Given the description of an element on the screen output the (x, y) to click on. 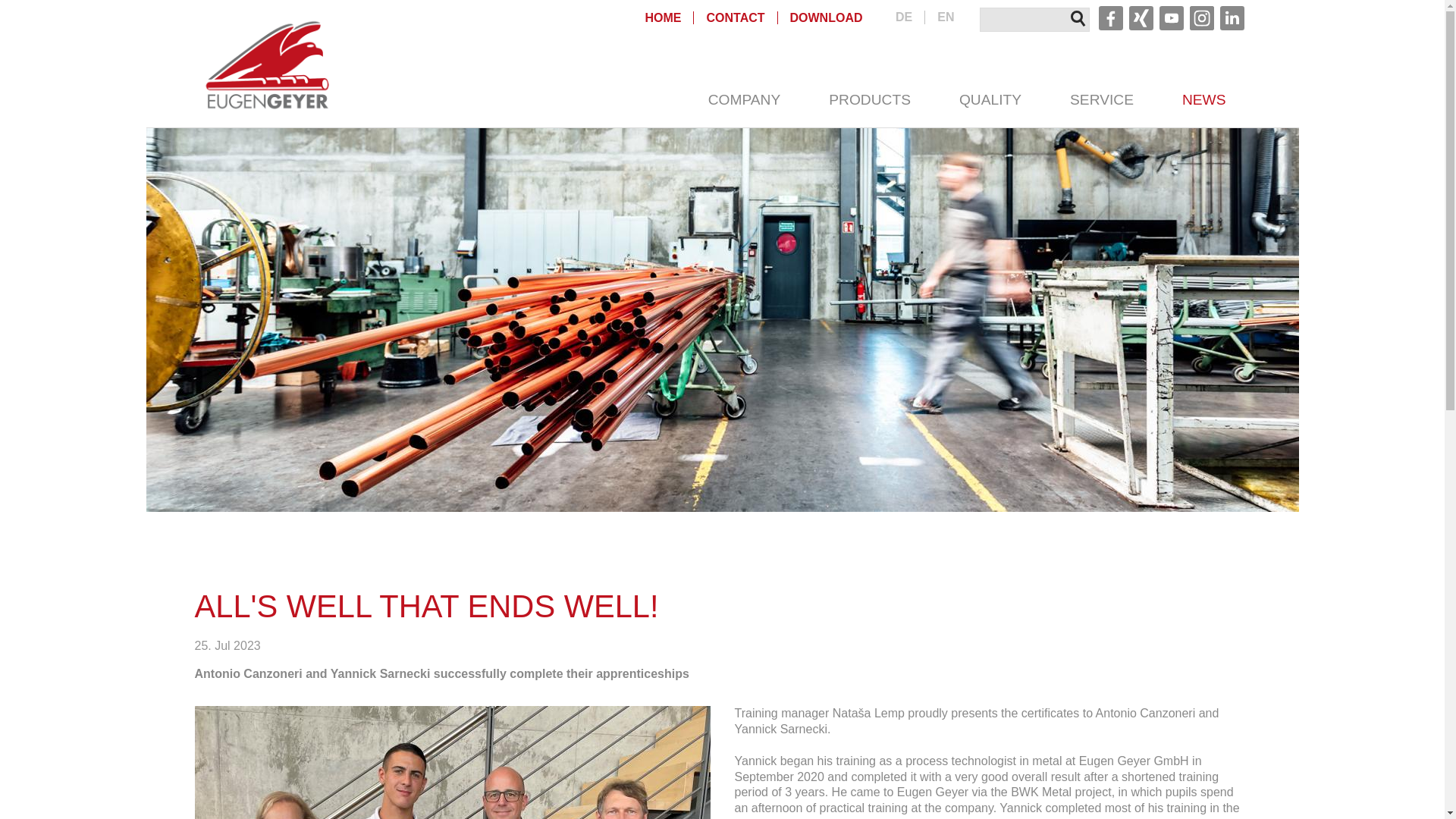
EN (946, 17)
PRODUCTS (869, 99)
CONTACT (735, 17)
Facebook (1109, 17)
to start page (266, 65)
DOWNLOAD (826, 17)
Xing (1140, 17)
DE (902, 17)
COMPANY (744, 99)
YouTube (1170, 17)
